Given the description of an element on the screen output the (x, y) to click on. 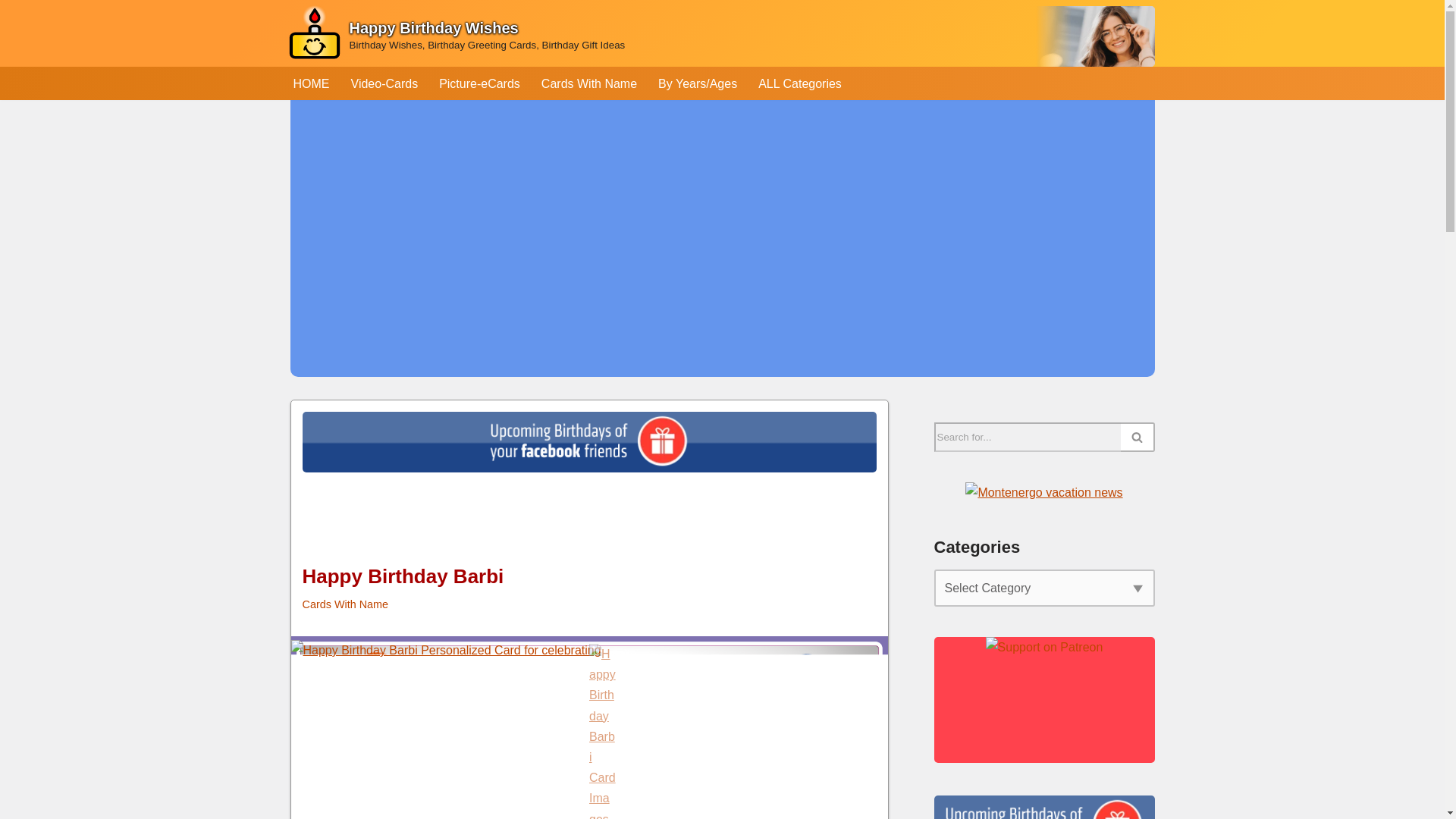
Cards With Name (589, 83)
Happy Birthday Barbi Personalized Card to Celebrate (589, 649)
ALL Categories (799, 83)
Cards With Name (344, 604)
Skip to content (11, 31)
Happy Birthday Barbi Card to Celebrate (589, 727)
Video-Cards (383, 83)
HOME (310, 83)
Picture-eCards (479, 83)
